Given the description of an element on the screen output the (x, y) to click on. 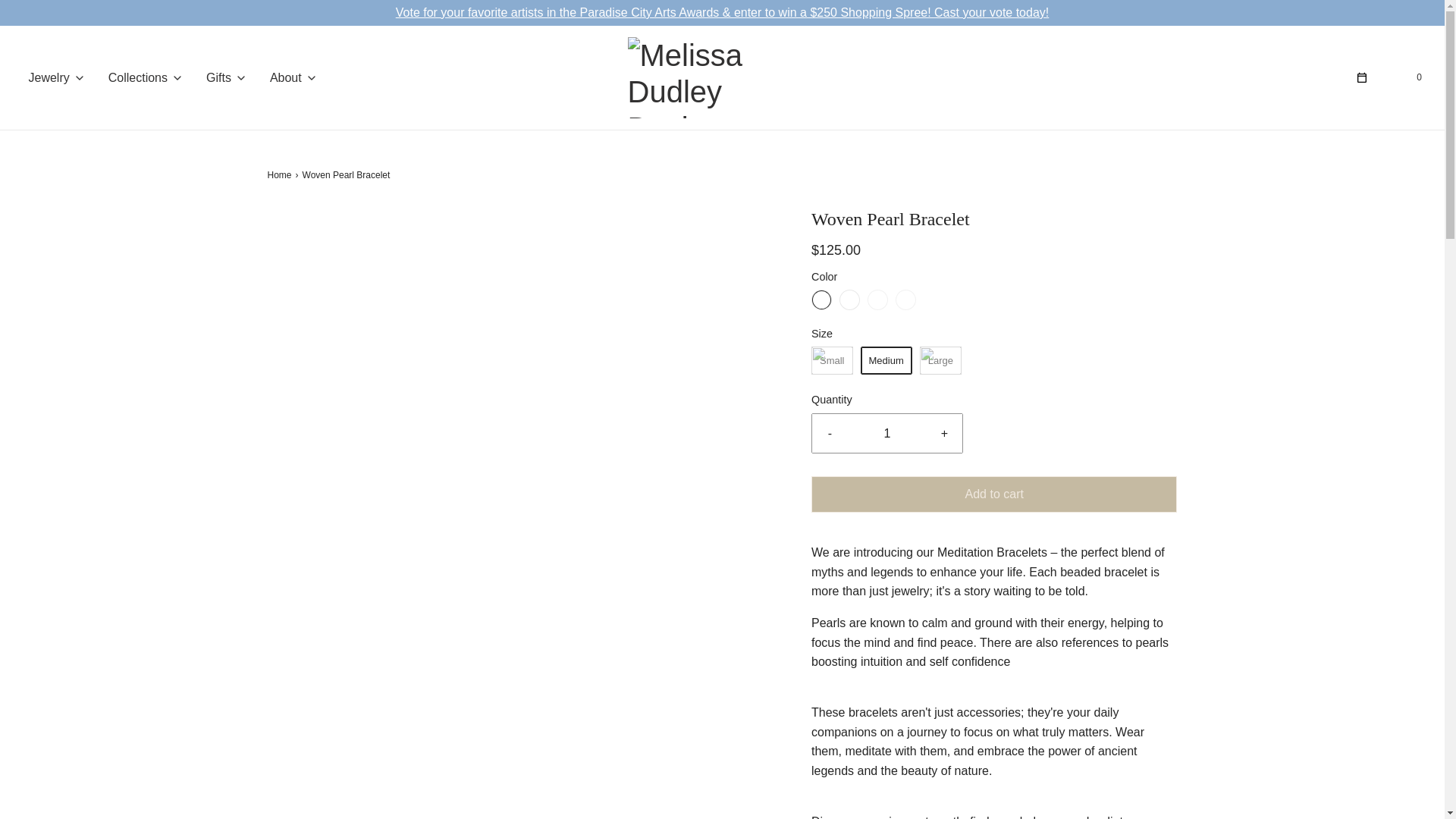
Back to the frontpage (280, 175)
Collections (145, 77)
Jewelry (57, 77)
Gifts (226, 77)
1 (887, 433)
